Given the description of an element on the screen output the (x, y) to click on. 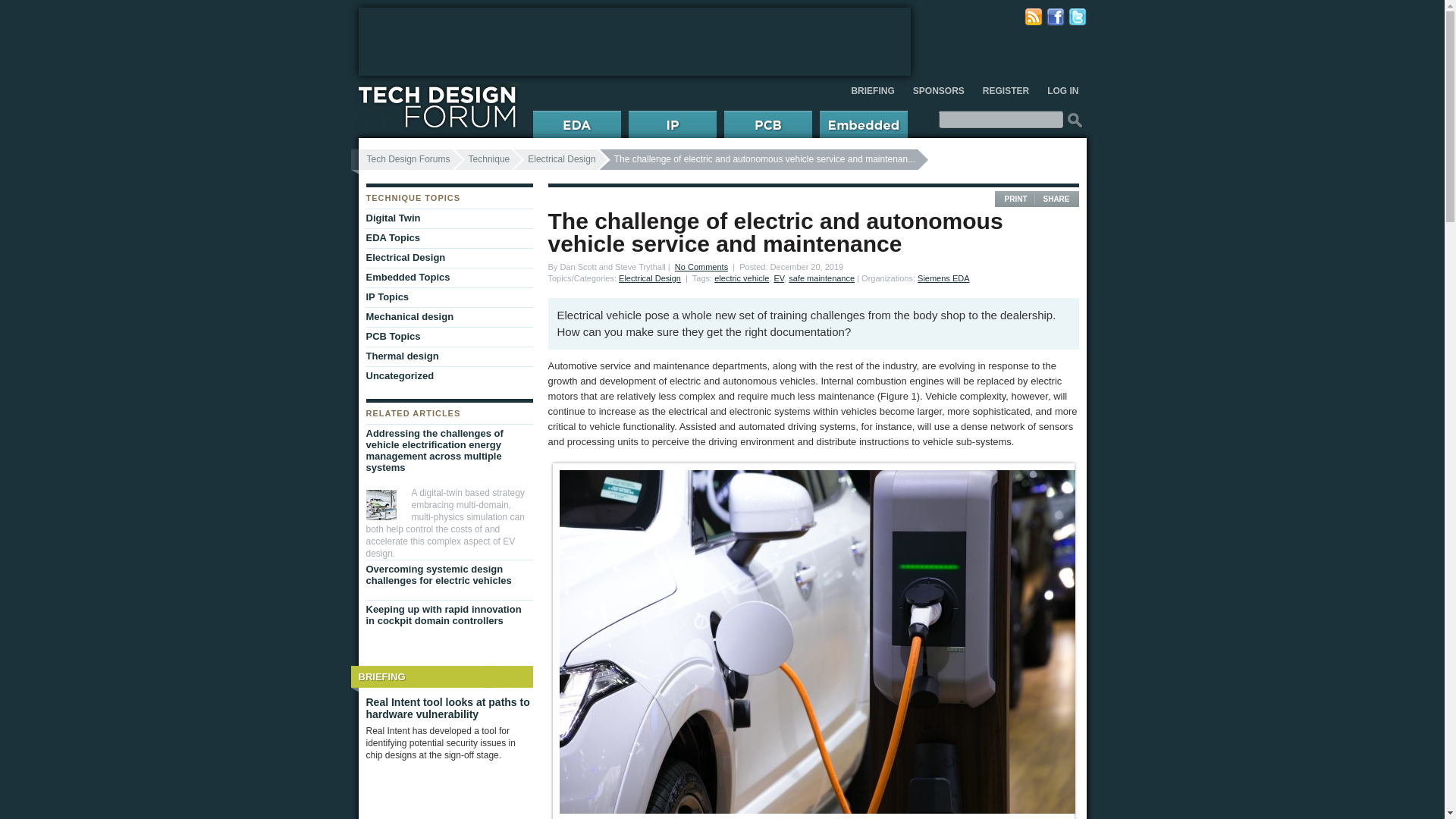
Electrical Design (649, 277)
3rd party ad content (634, 41)
Digital Twin (445, 218)
electric vehicle (741, 277)
safe maintenance (821, 277)
Electrical Design (445, 257)
IP Topics (445, 297)
Tech Design Forums (404, 159)
Embedded Topics (445, 277)
EV (778, 277)
PCB Topics (445, 336)
PRINT (1015, 198)
Siemens EDA (943, 277)
Electrical Design (649, 277)
